Given the description of an element on the screen output the (x, y) to click on. 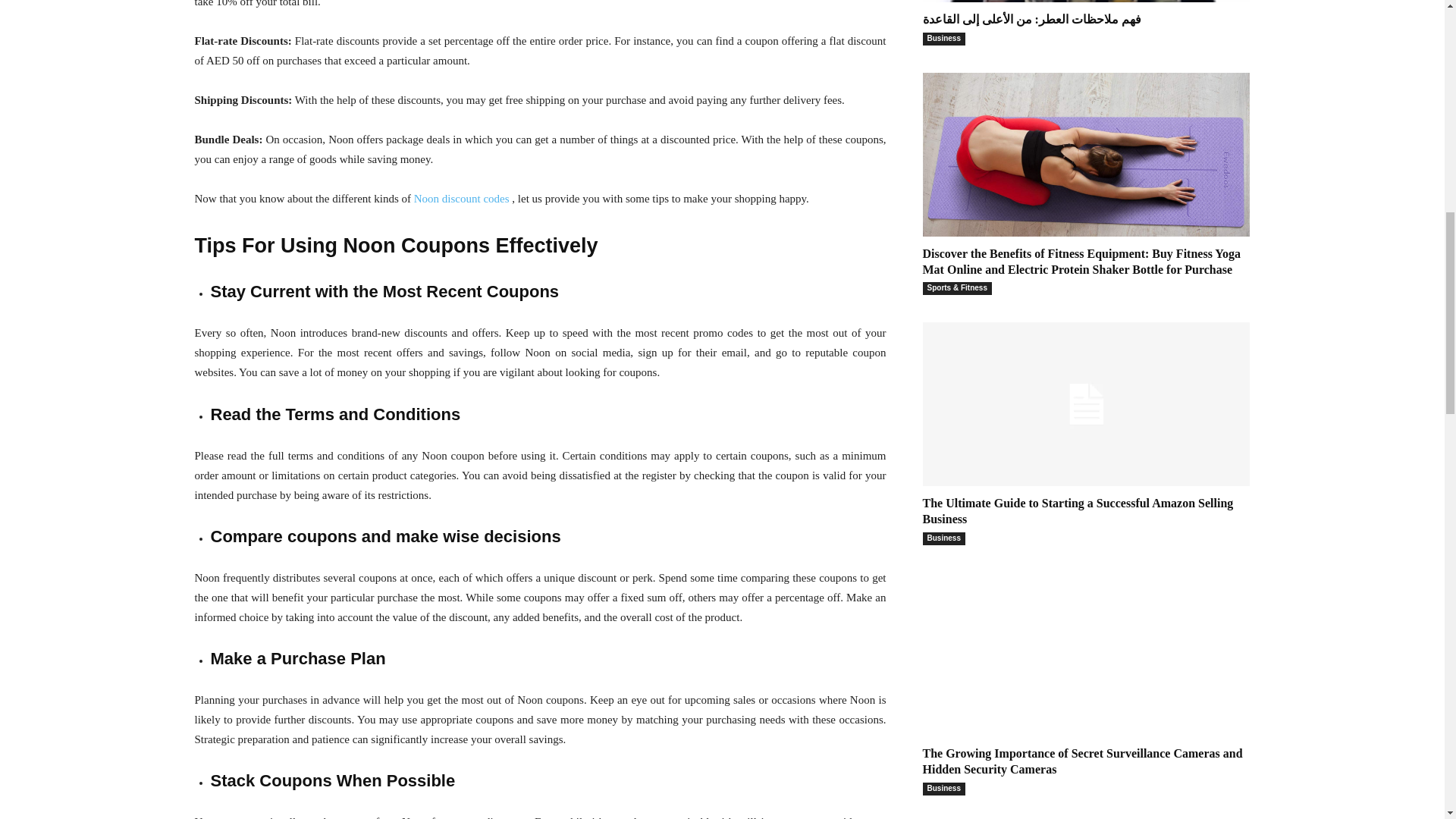
Business (942, 38)
Noon discount codes (461, 198)
